Given the description of an element on the screen output the (x, y) to click on. 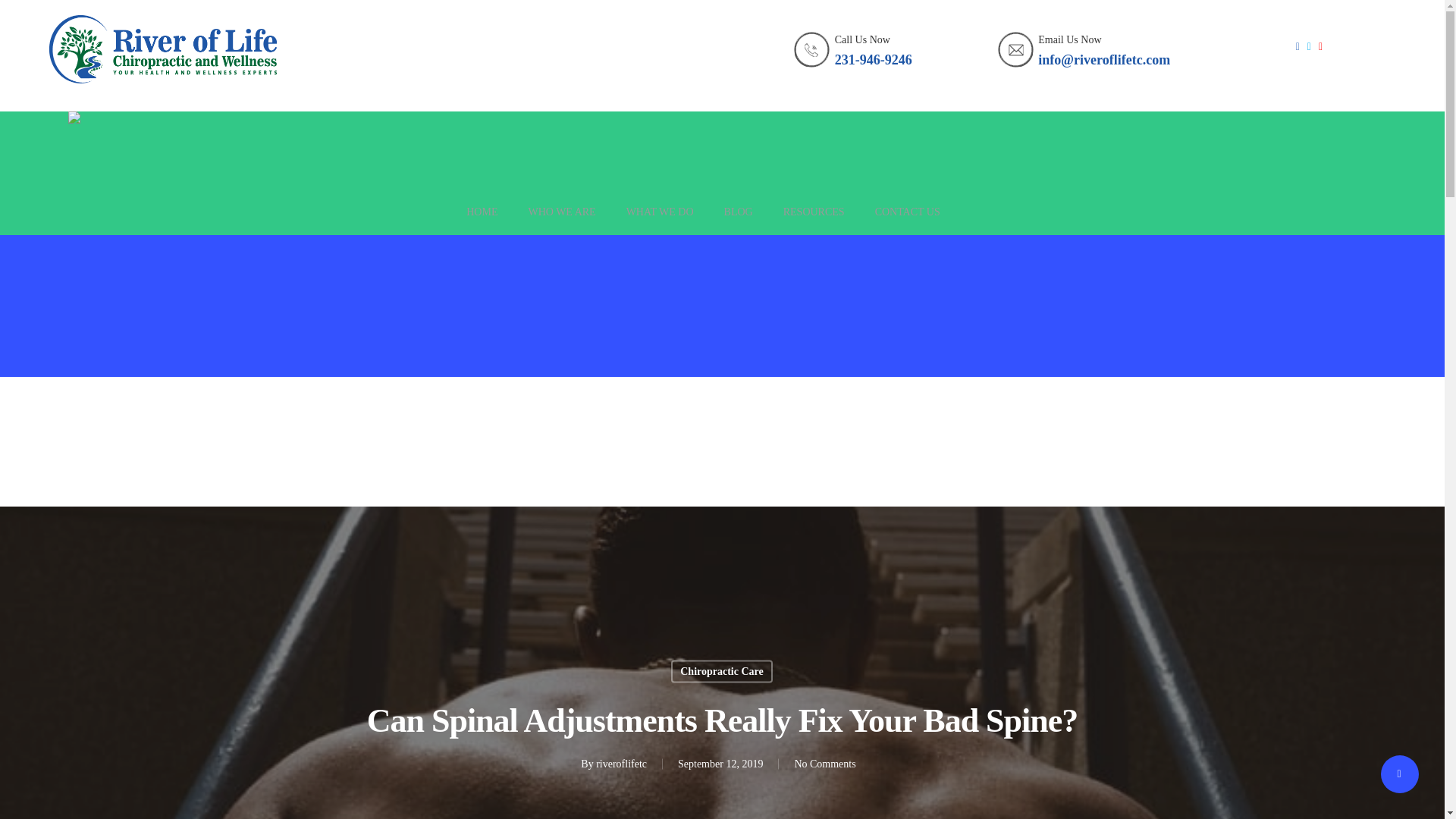
HOME (481, 219)
WHAT WE DO (660, 219)
No Comments (824, 763)
Posts by riveroflifetc (620, 763)
RESOURCES (813, 219)
231-946-9246 (873, 59)
BLOG (737, 219)
CONTACT US (907, 219)
riveroflifetc (620, 763)
Chiropractic Care (722, 671)
